Given the description of an element on the screen output the (x, y) to click on. 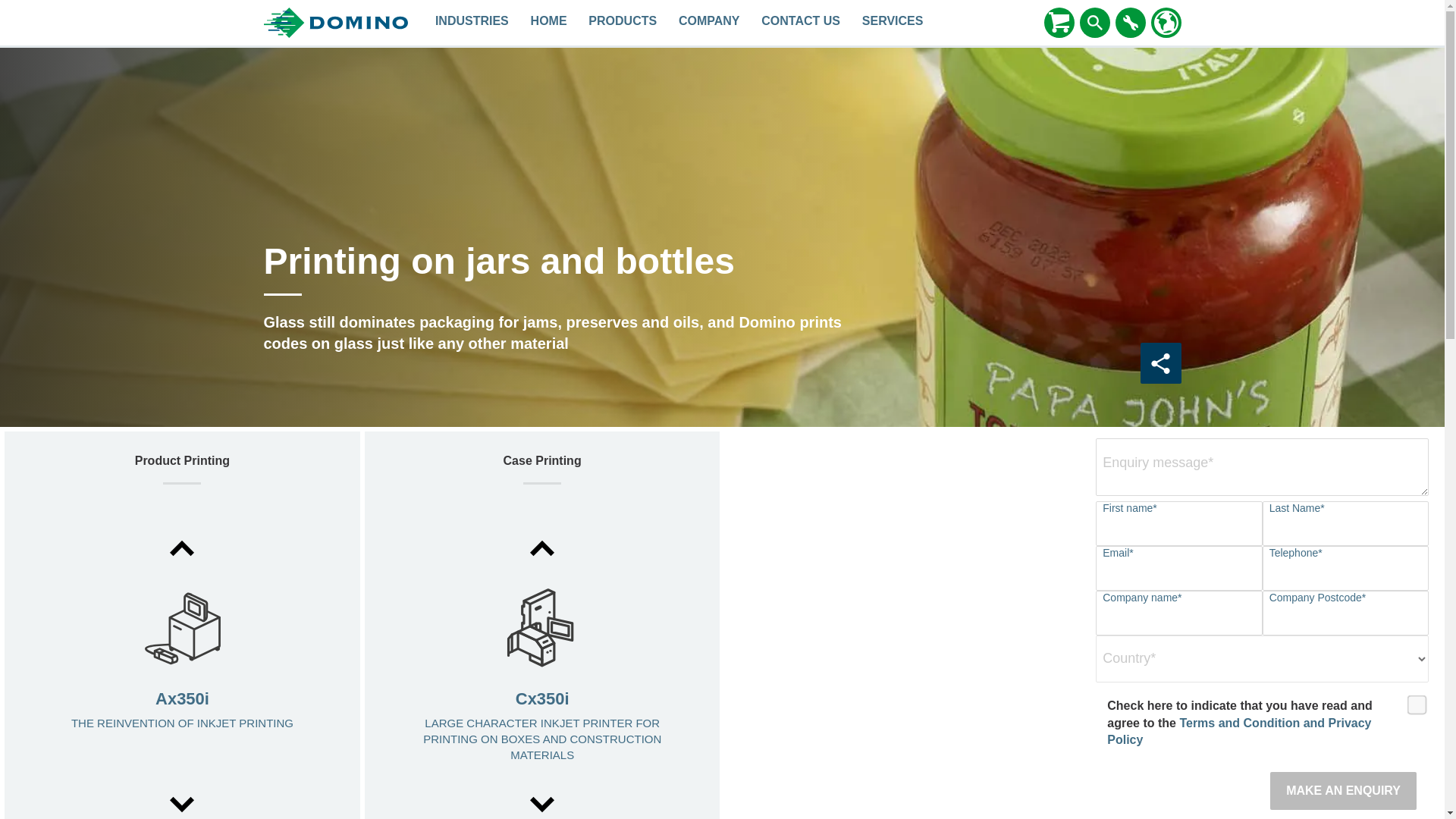
Company (709, 22)
contact us (800, 22)
Search (1094, 22)
Search (1094, 22)
on (1411, 700)
BuyDomino (1058, 22)
MyDomino Portals (1129, 22)
Change Region (1165, 22)
industries (472, 22)
products (623, 22)
BuyDomino (1058, 22)
Change Region (1165, 22)
Domino North America - World-Class Industrial Printers (548, 22)
Services (891, 22)
MyDomino Portals (1129, 22)
